Given the description of an element on the screen output the (x, y) to click on. 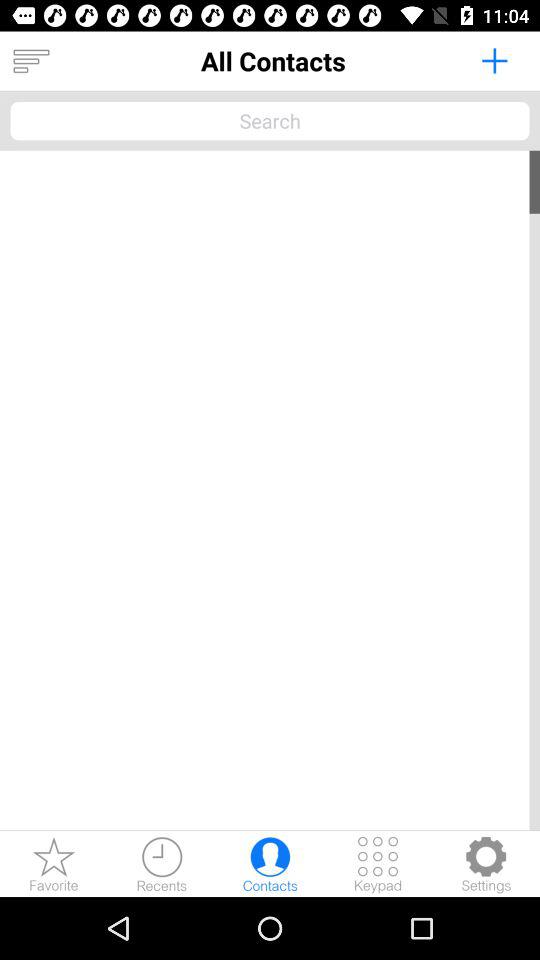
contact list of phone number (269, 864)
